Given the description of an element on the screen output the (x, y) to click on. 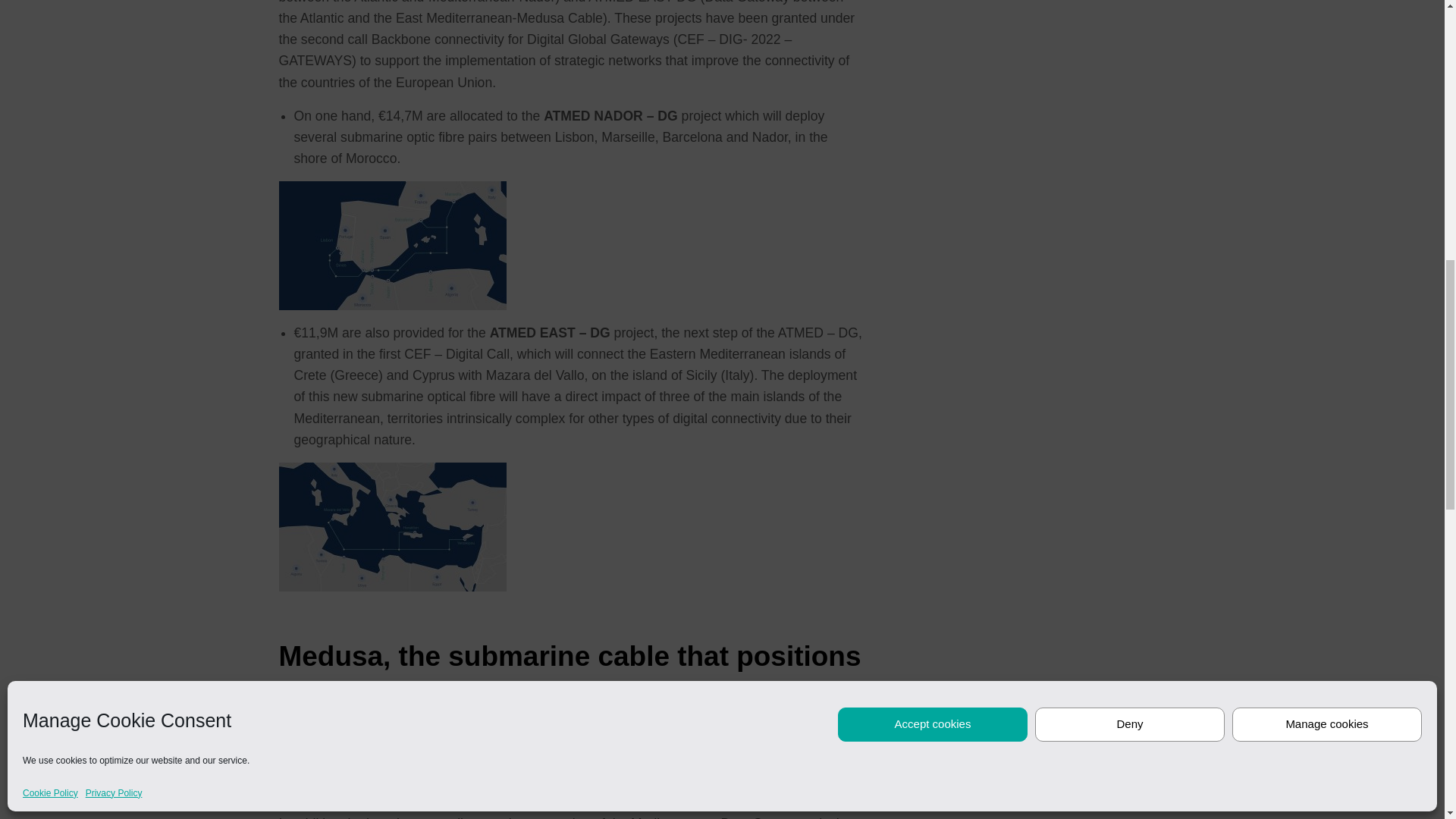
Accept cookies (932, 315)
Privacy Policy (113, 383)
Deny (1129, 315)
Manage cookies (1326, 315)
Cookie Policy (50, 383)
